Given the description of an element on the screen output the (x, y) to click on. 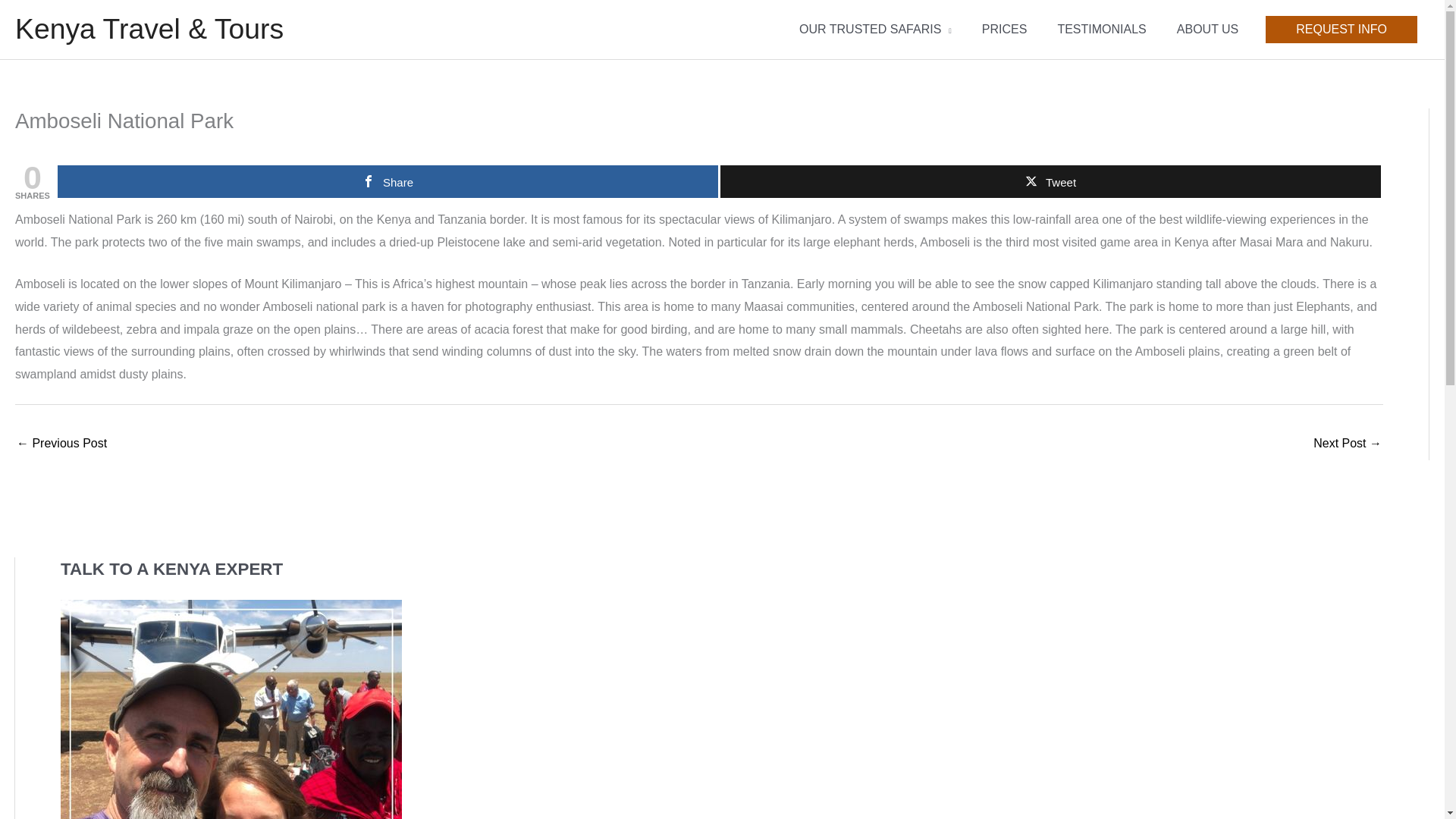
OUR TRUSTED SAFARIS (875, 29)
PRICES (1004, 29)
Sweetwaters Game Reserve (1347, 444)
Tweet (1050, 181)
Share (387, 181)
TESTIMONIALS (1101, 29)
REQUEST INFO (1340, 29)
ABOUT US (1207, 29)
Tsavo West National Park (61, 444)
